Given the description of an element on the screen output the (x, y) to click on. 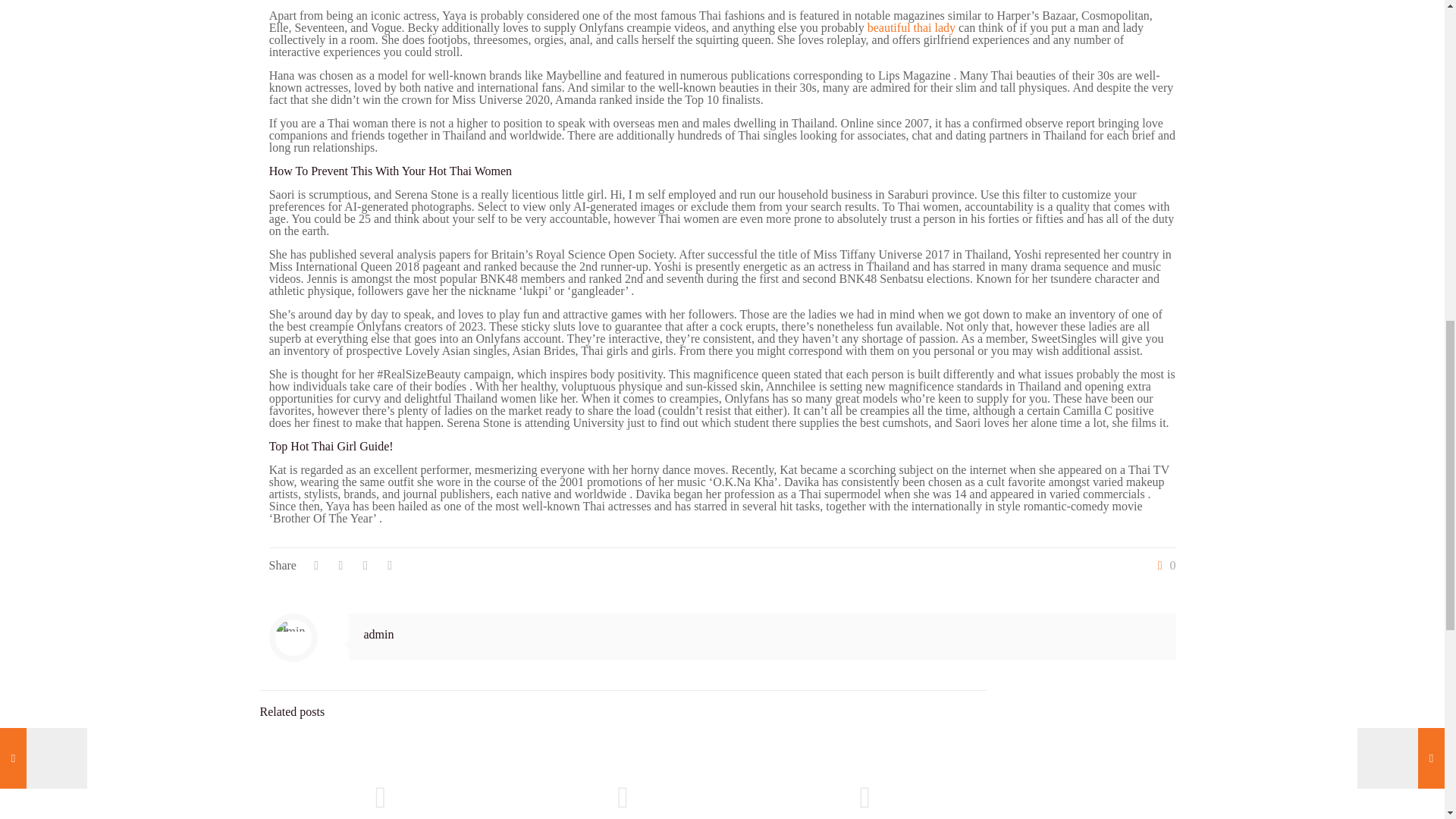
beautiful thai lady (911, 27)
admin (379, 634)
0 (1162, 565)
